Given the description of an element on the screen output the (x, y) to click on. 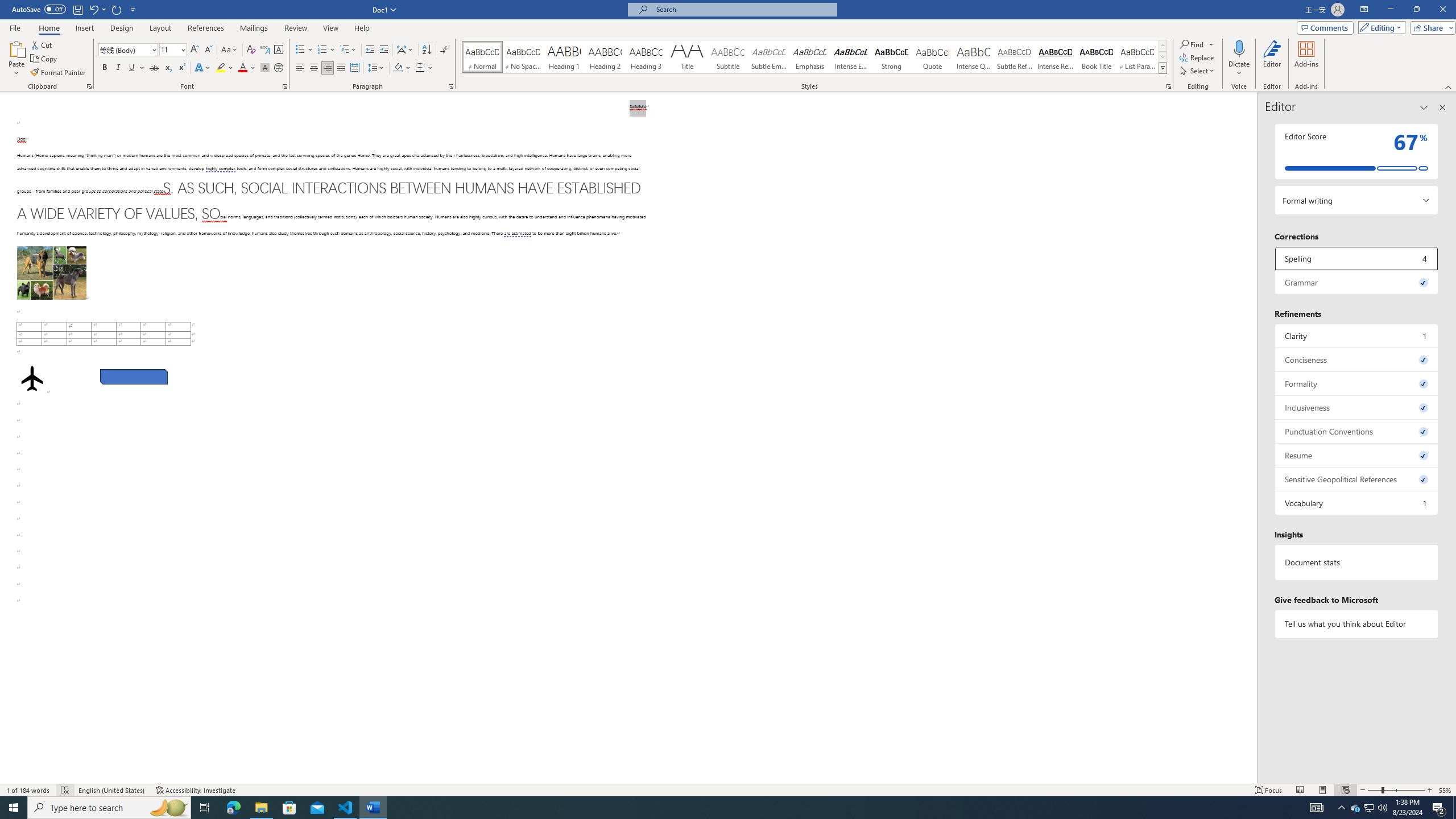
Morphological variation in six dogs (51, 272)
